Given the description of an element on the screen output the (x, y) to click on. 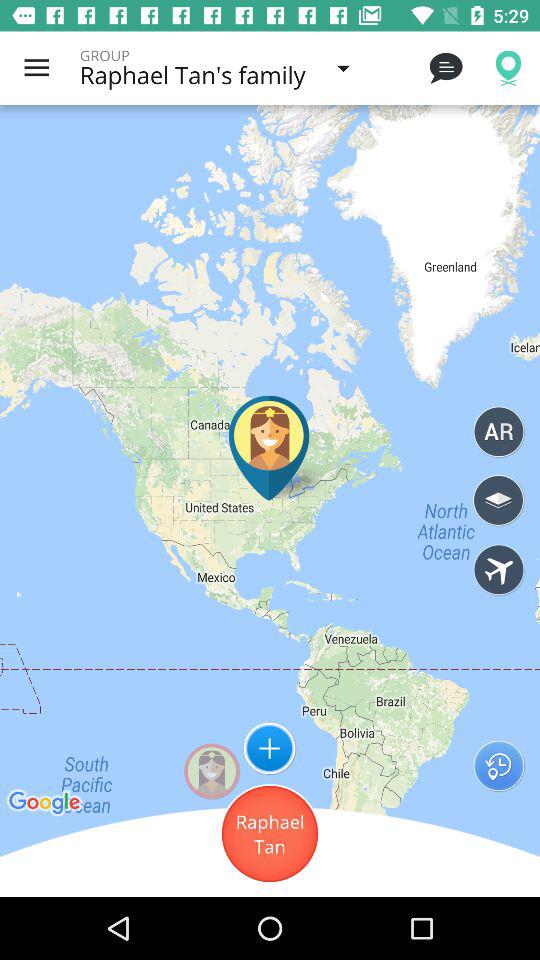
click the middle button at middle right (498, 500)
the circle which has ar mentioned inside it (498, 431)
the blue colored dot with  inside it shown at the bottom of the page (269, 748)
click the circular shaped image on the left to the  button icon on the web page (211, 771)
click the location button on the top right corner of the web page (508, 68)
click on the button below  (269, 834)
click on the icon (269, 748)
click on the raphael tan below  the icon (269, 834)
click on the flight icon (498, 570)
click on the icon below ar (498, 500)
